Given the description of an element on the screen output the (x, y) to click on. 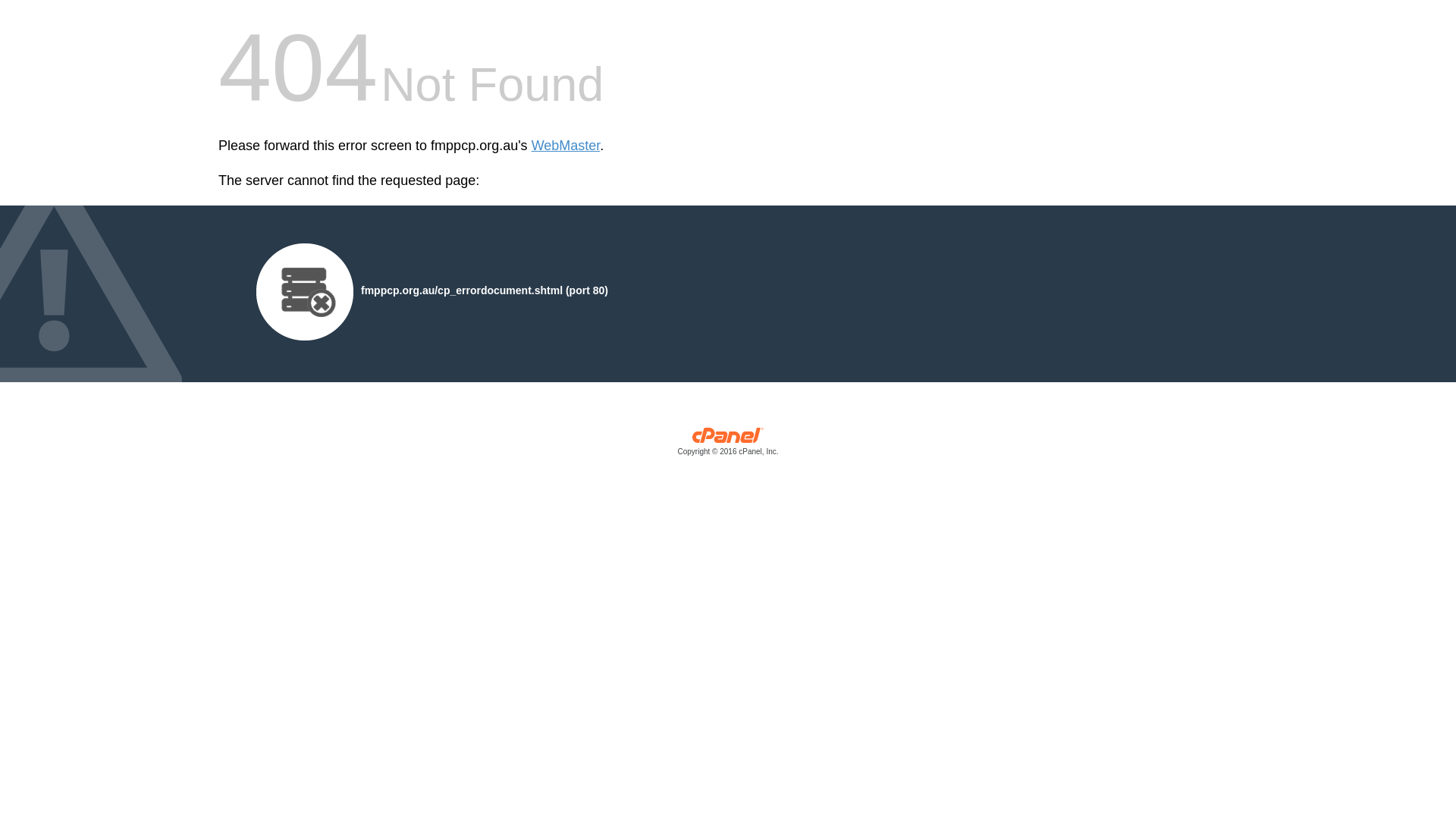
WebMaster Element type: text (565, 145)
